Given the description of an element on the screen output the (x, y) to click on. 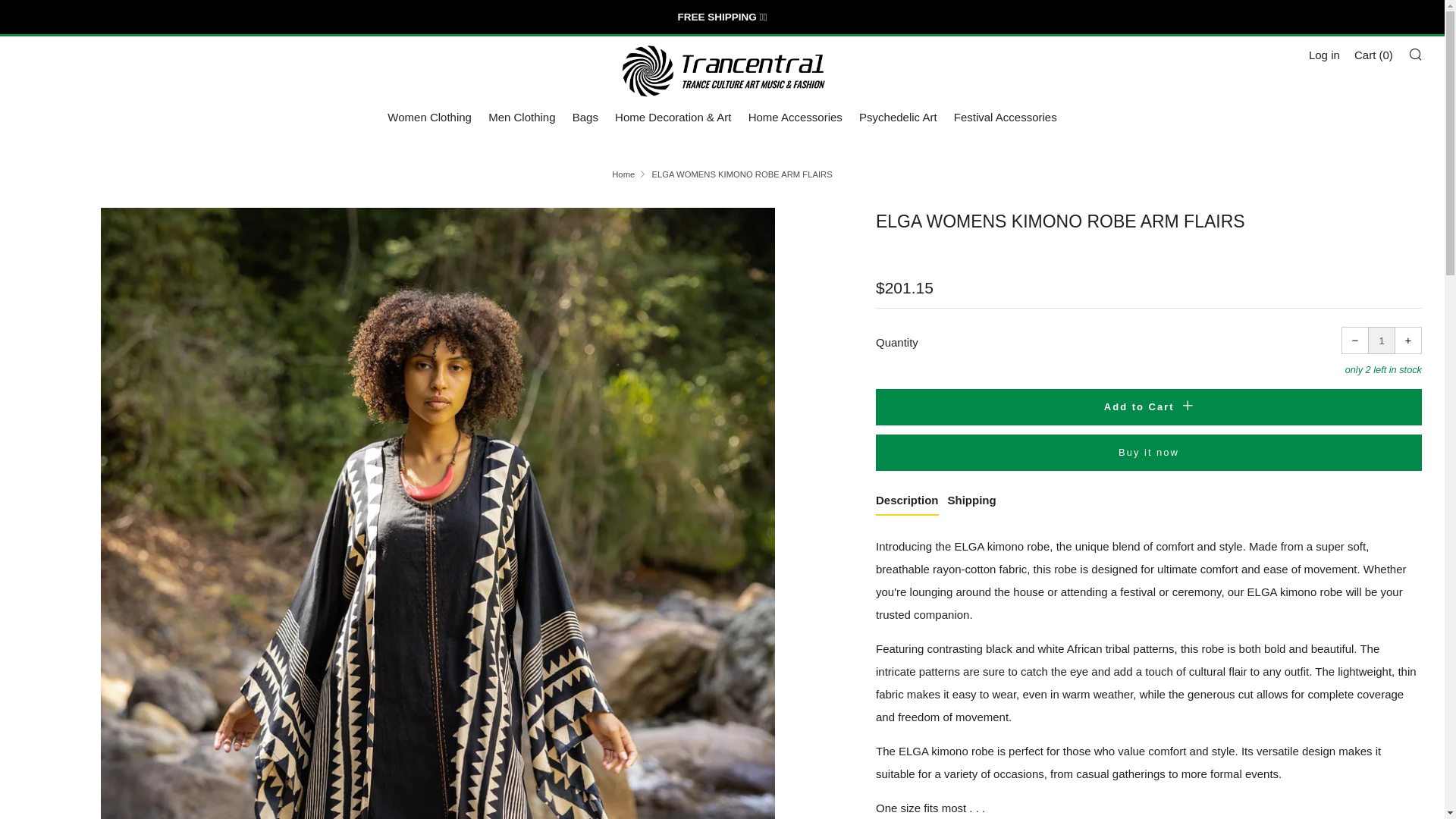
Women Clothing (429, 117)
Search (1414, 53)
Shipping (971, 501)
Home (622, 174)
Description (907, 501)
1 (1381, 339)
Home Accessories (795, 117)
Add to Cart (1149, 407)
Psychedelic Art (898, 117)
Buy it now (1149, 452)
Bags (585, 117)
Home (622, 174)
Log in (1323, 55)
Festival Accessories (1005, 117)
Men Clothing (520, 117)
